Given the description of an element on the screen output the (x, y) to click on. 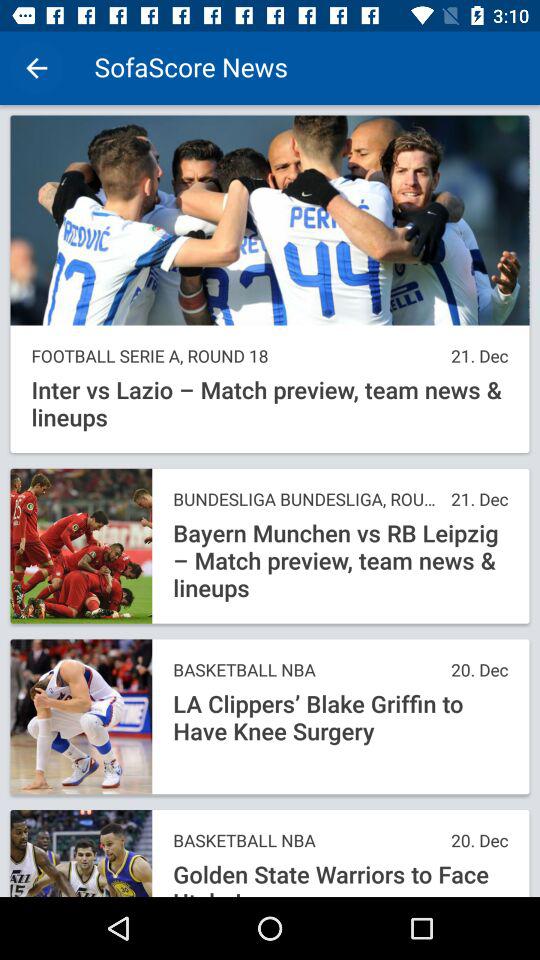
press the icon to the left of the 21. dec item (235, 356)
